Given the description of an element on the screen output the (x, y) to click on. 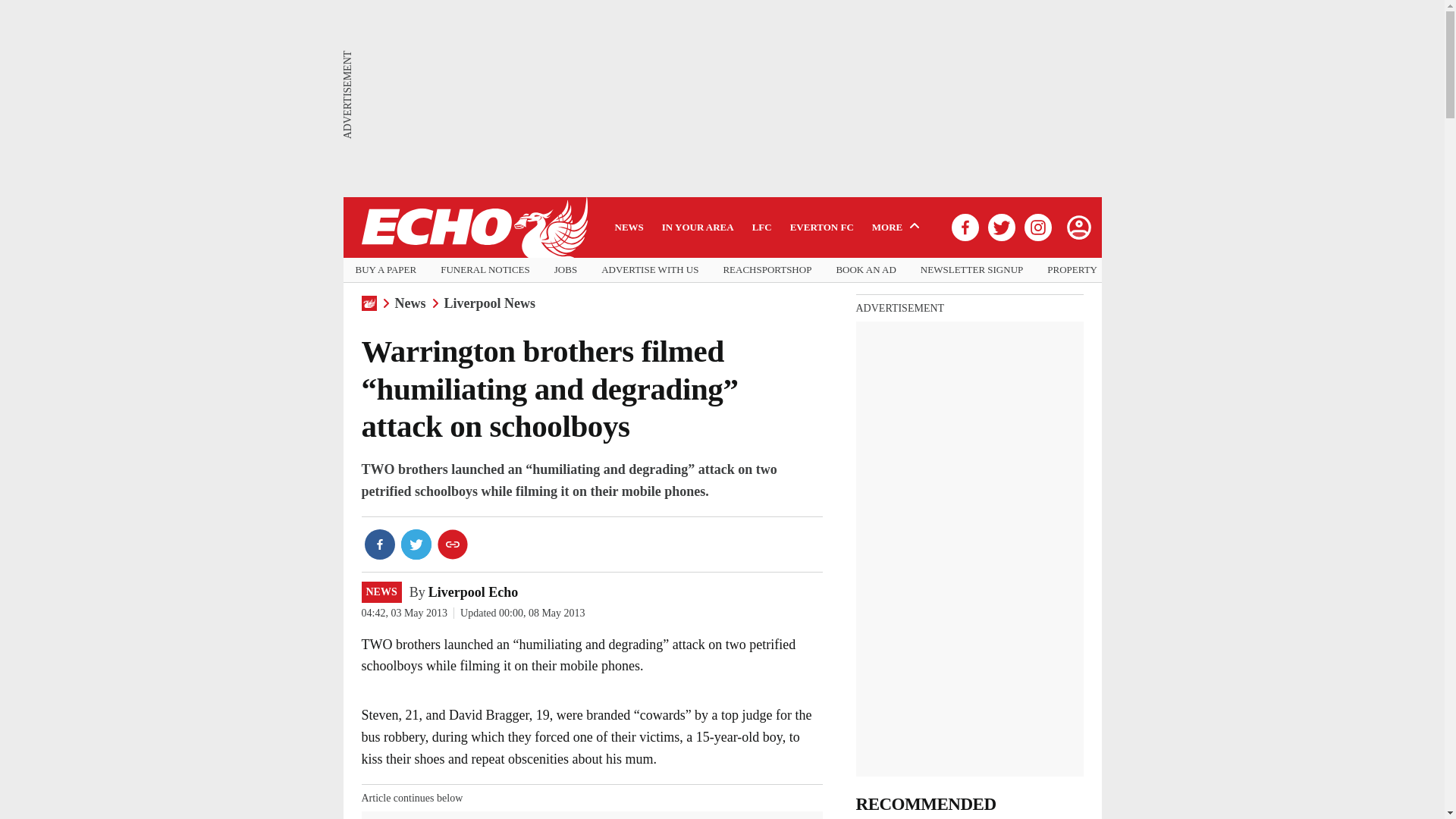
JOBS (565, 270)
NEWS (381, 592)
REACHSPORTSHOP (766, 270)
IN YOUR AREA (697, 227)
Liverpool News (489, 303)
News (409, 303)
Go to the Liverpool Echo homepage (473, 227)
NEWSLETTER SIGNUP (971, 270)
avatar (1077, 227)
ADVERTISE WITH US (649, 270)
BUY A PAPER (385, 270)
copy link (451, 544)
FUNERAL NOTICES (485, 270)
EVERTON FC (821, 227)
PROPERTY (1071, 270)
